Given the description of an element on the screen output the (x, y) to click on. 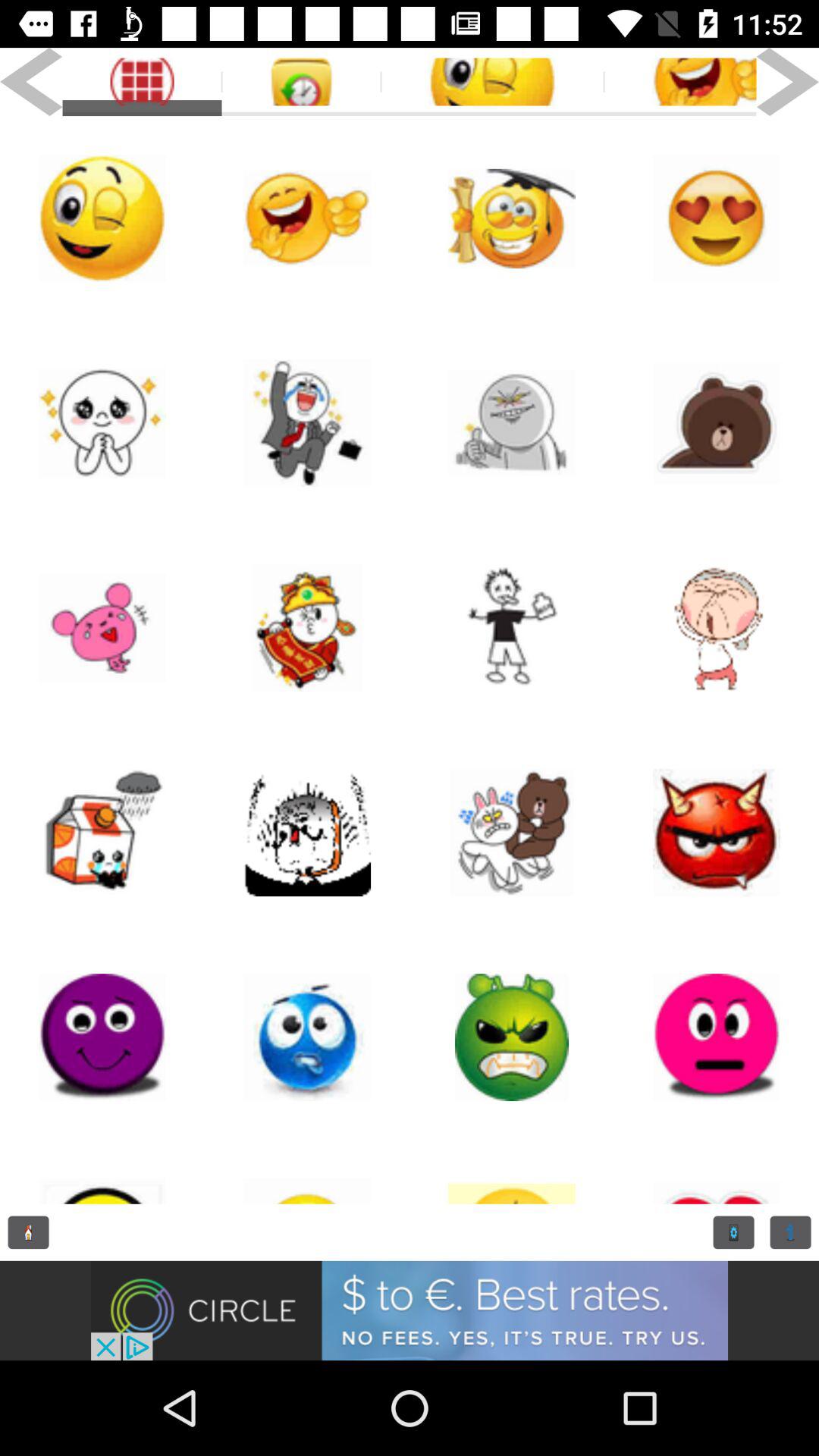
select emoji (511, 218)
